Given the description of an element on the screen output the (x, y) to click on. 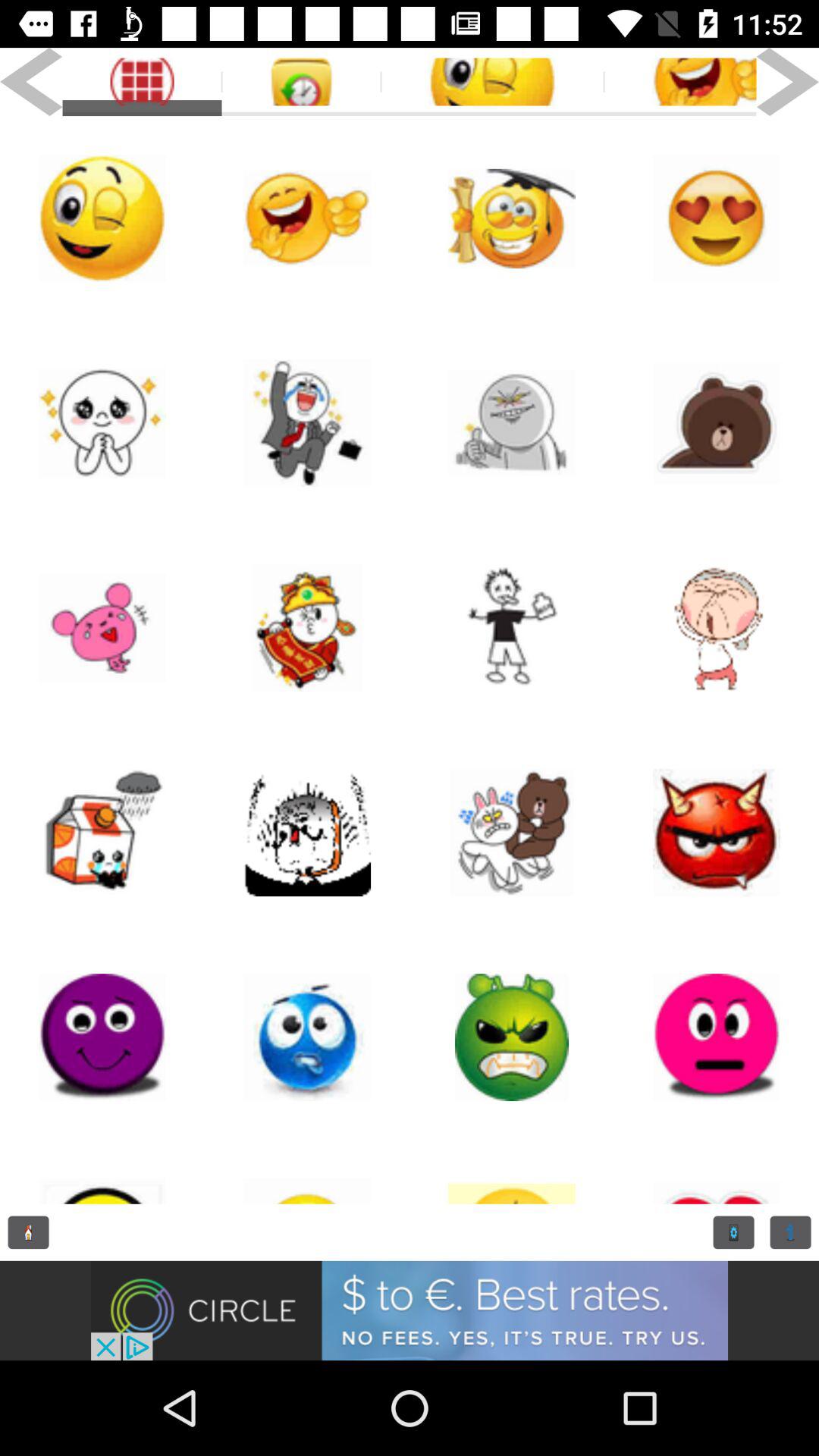
select emoji (511, 218)
